Given the description of an element on the screen output the (x, y) to click on. 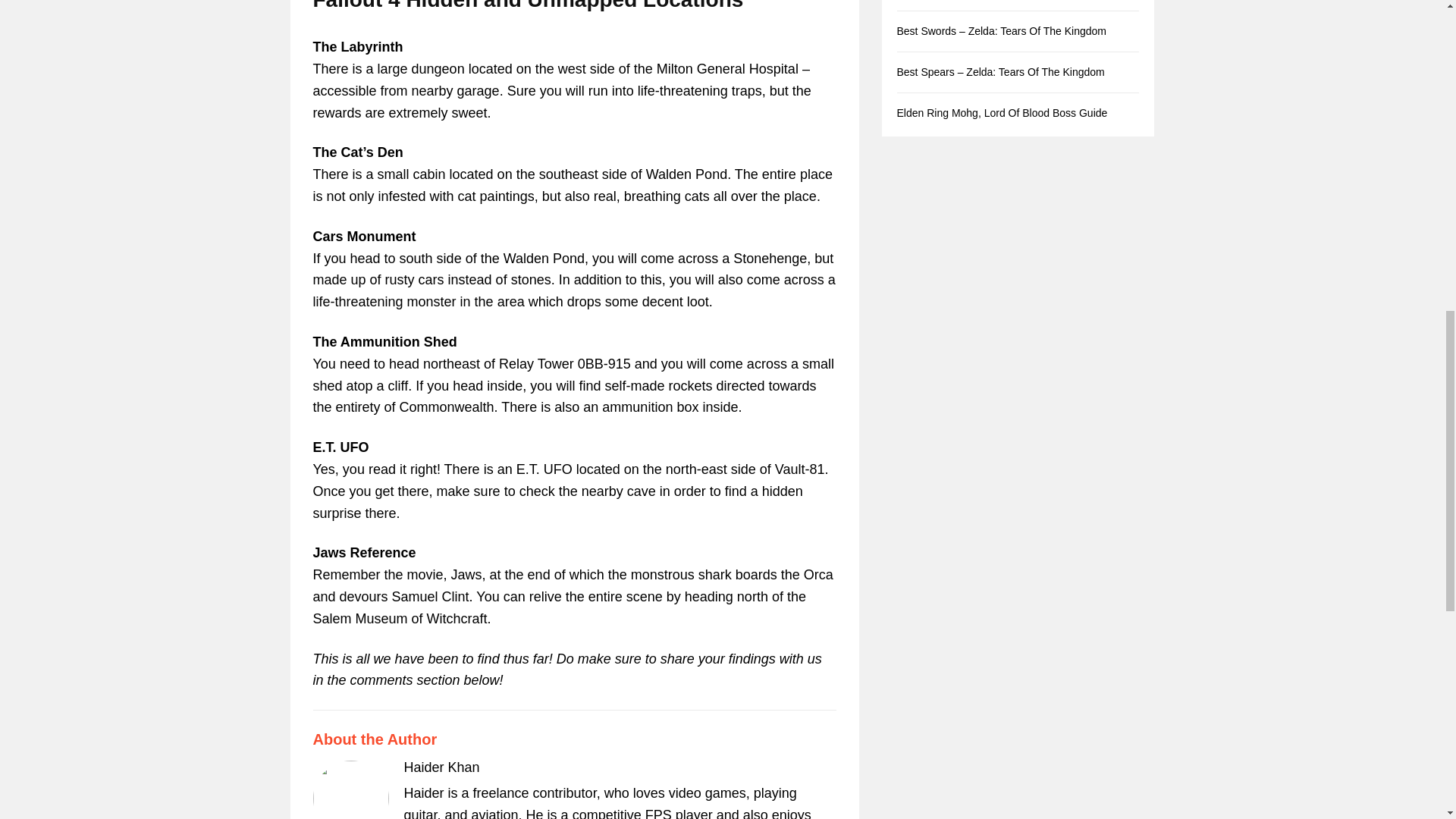
Elden Ring Mohg, Lord Of Blood Boss Guide (1001, 112)
Haider Khan (441, 767)
Haider Khan (441, 767)
